Given the description of an element on the screen output the (x, y) to click on. 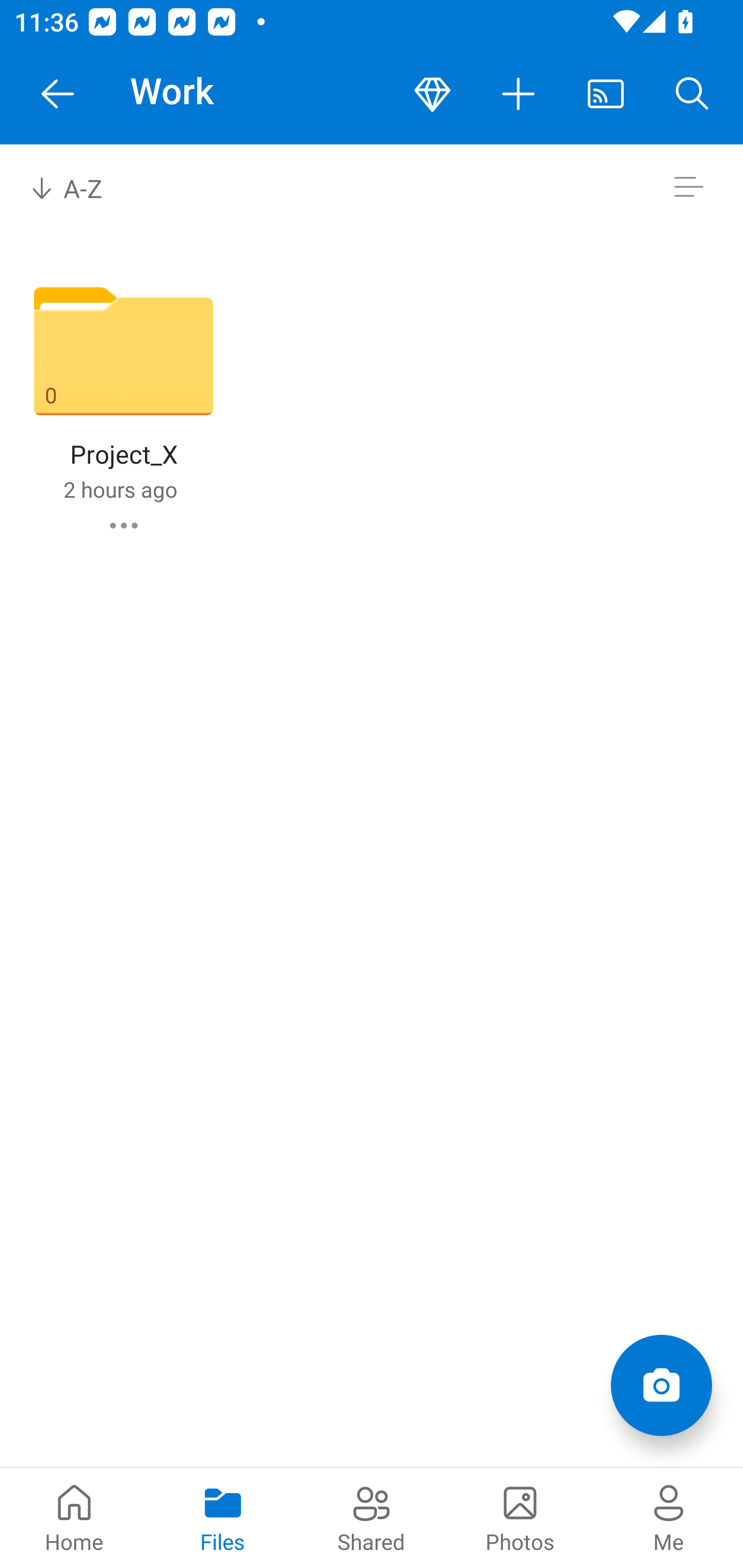
Navigate Up (57, 93)
Cast. Disconnected (605, 93)
Premium button (432, 93)
More actions button (518, 93)
Search button (692, 93)
A-Z Sort by combo box, sort by name, A to Z (80, 187)
Switch to list view (688, 187)
2 hours ago (119, 489)
Project_X commands (123, 525)
Add items Scan (660, 1385)
Home pivot Home (74, 1517)
Shared pivot Shared (371, 1517)
Photos pivot Photos (519, 1517)
Me pivot Me (668, 1517)
